Given the description of an element on the screen output the (x, y) to click on. 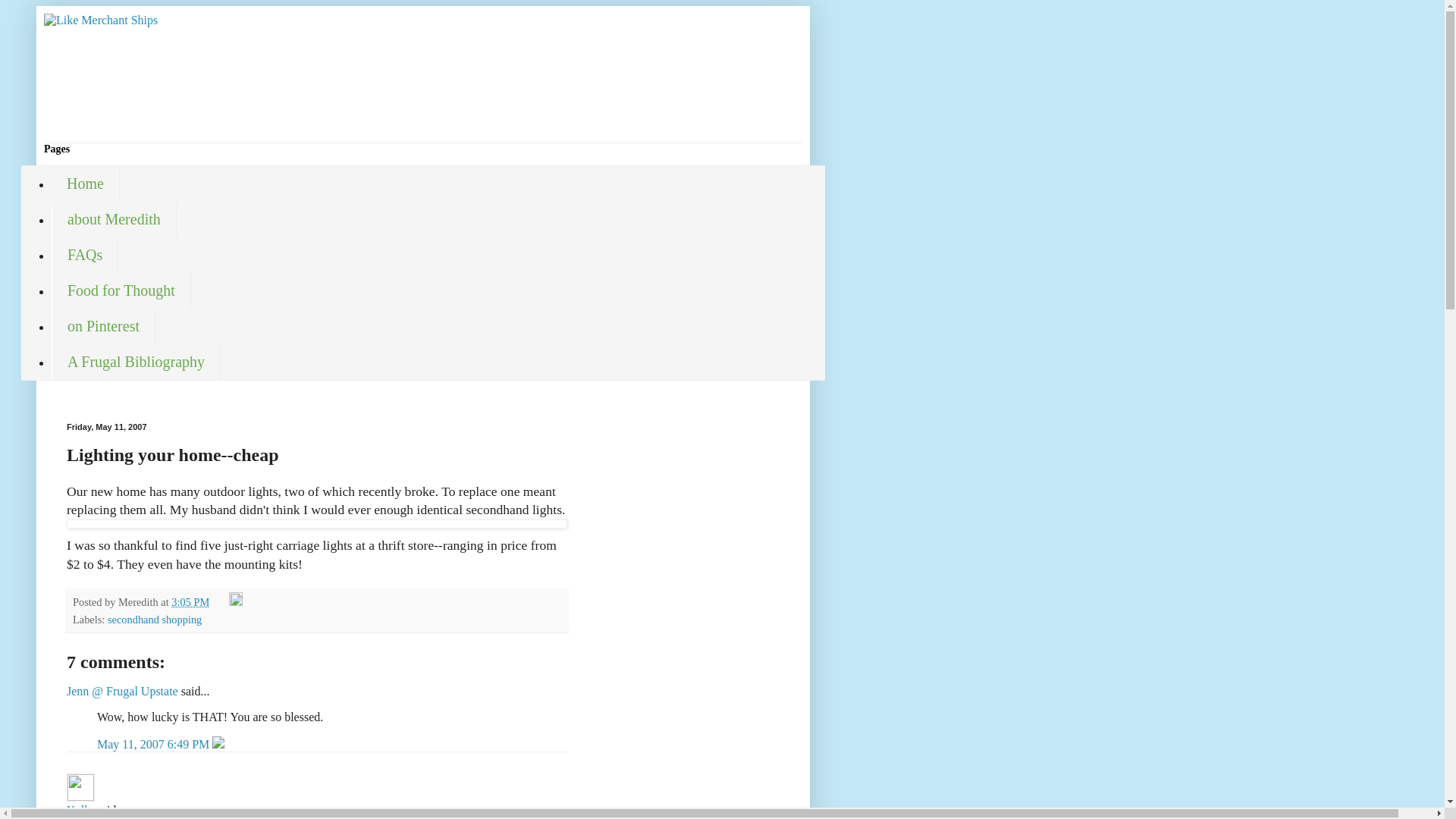
Kelly (80, 809)
A Frugal Bibliography (135, 361)
Kelly (80, 787)
May 11, 2007 6:49 PM (154, 744)
Delete Comment (218, 744)
comment permalink (154, 744)
permanent link (190, 602)
Home (84, 183)
secondhand shopping (154, 619)
Food for Thought (120, 290)
Edit Post (235, 602)
3:05 PM (190, 602)
FAQs (83, 254)
about Meredith (113, 219)
Email Post (220, 602)
